Given the description of an element on the screen output the (x, y) to click on. 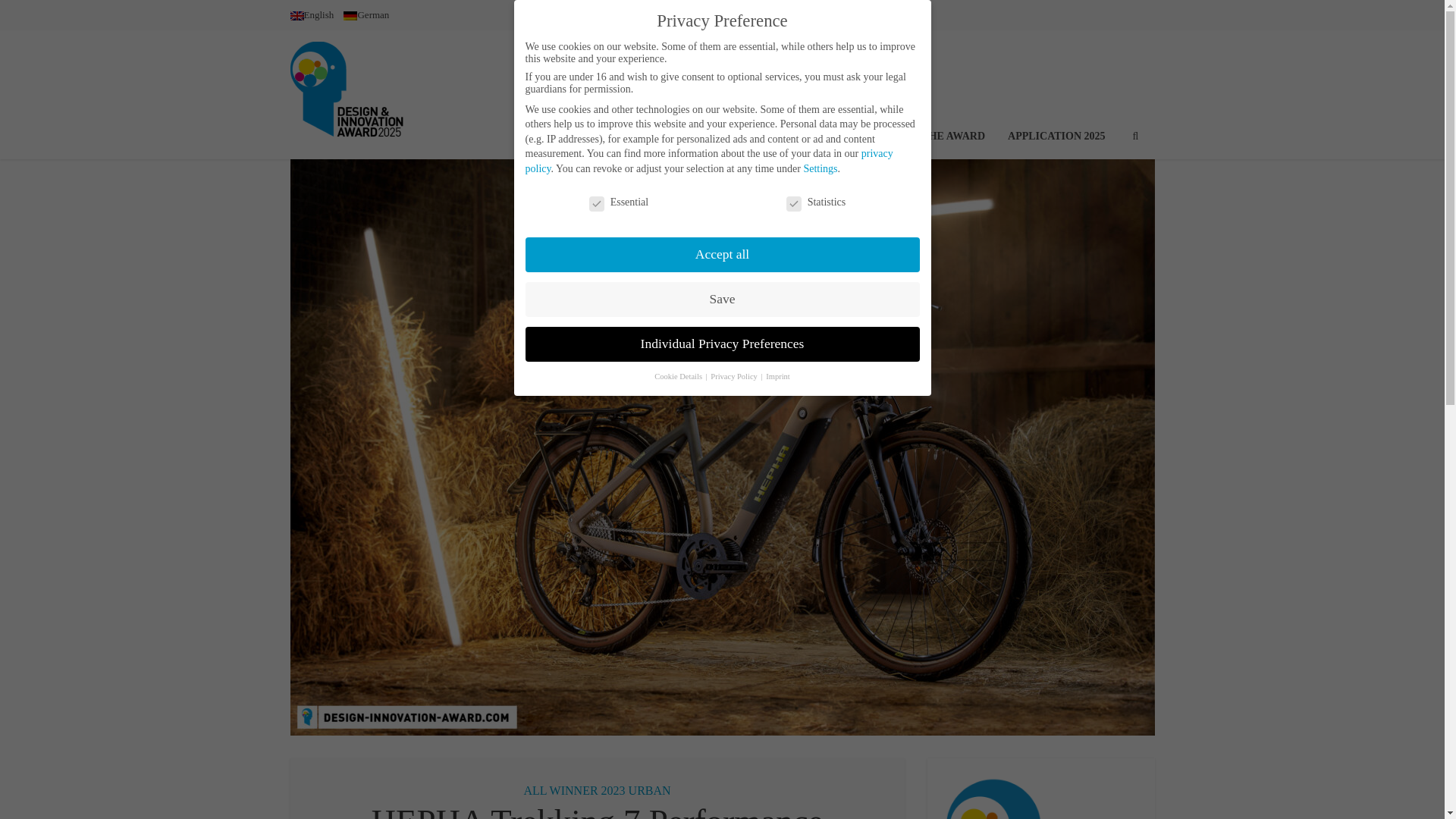
English (311, 14)
ABOUT THE AWARD (932, 94)
privacy policy (708, 161)
German (365, 14)
URBAN (649, 789)
Individual Privacy Preferences (721, 343)
TEST LOCATIONS (812, 94)
ALL WINNER 2023 (573, 789)
Cookie Details (678, 376)
Open Cookie Preferences (32, 799)
